Given the description of an element on the screen output the (x, y) to click on. 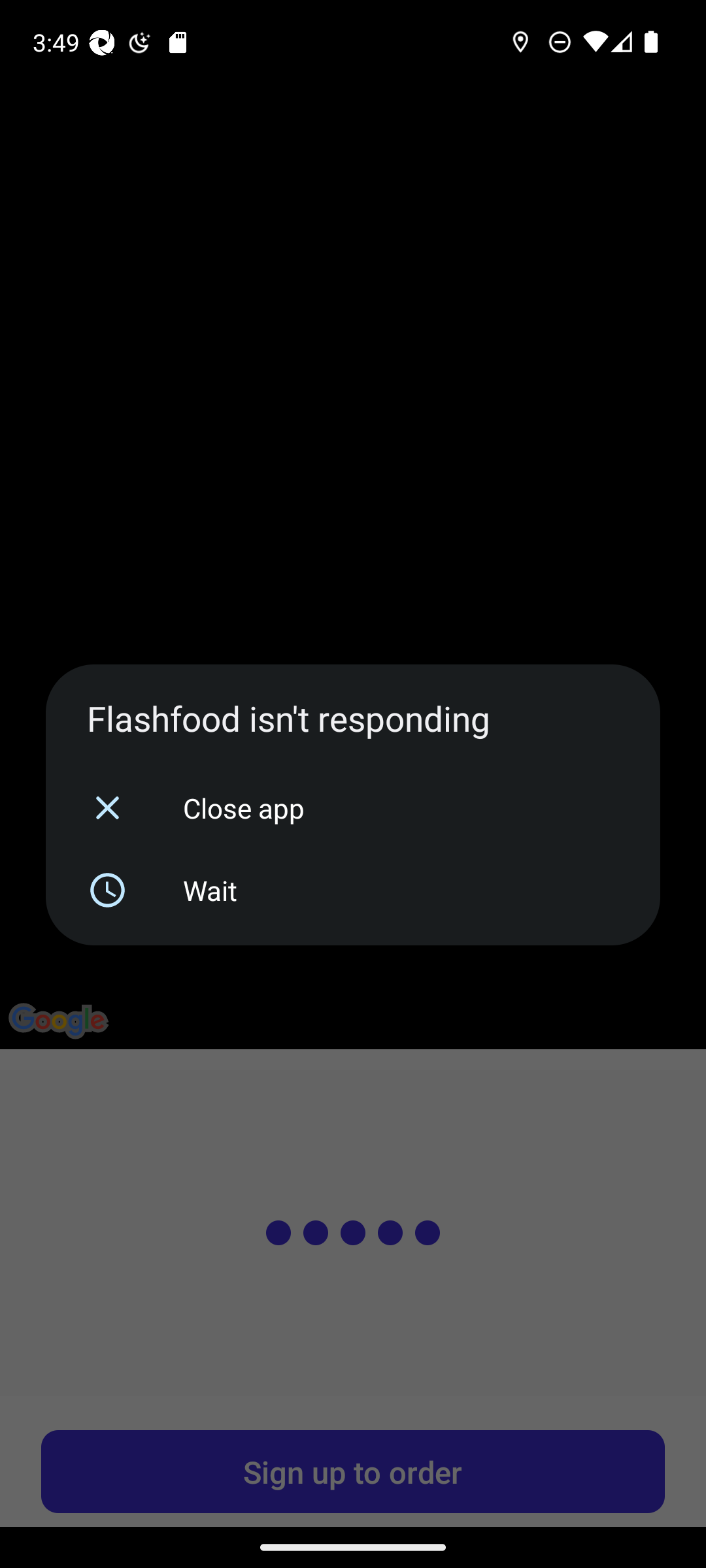
Close app (352, 807)
Wait (352, 890)
